Given the description of an element on the screen output the (x, y) to click on. 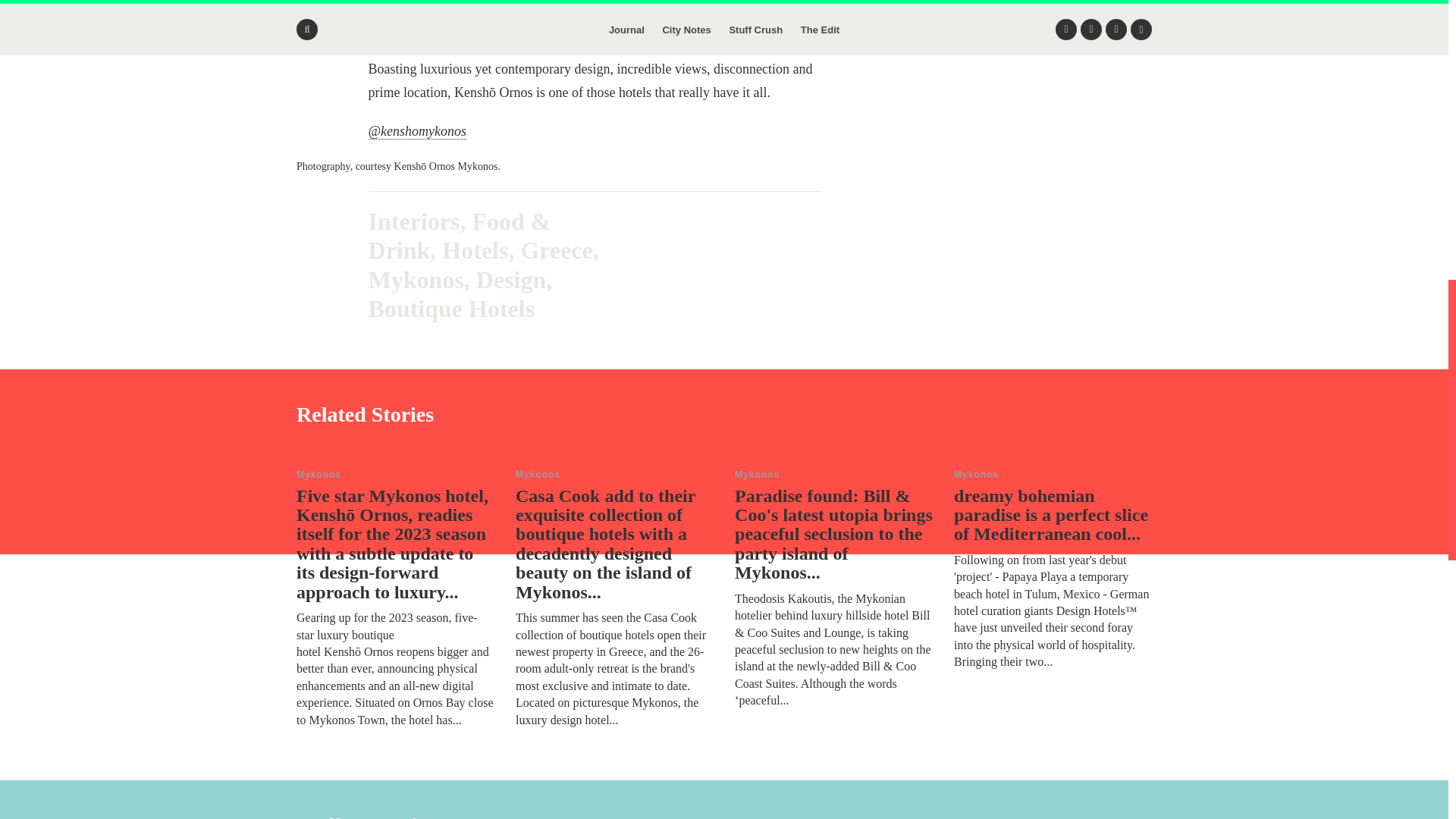
Greece (555, 249)
Mykonos (416, 279)
Boutique Hotels (451, 308)
Interiors (414, 221)
Design (511, 279)
Hotels (475, 249)
